Given the description of an element on the screen output the (x, y) to click on. 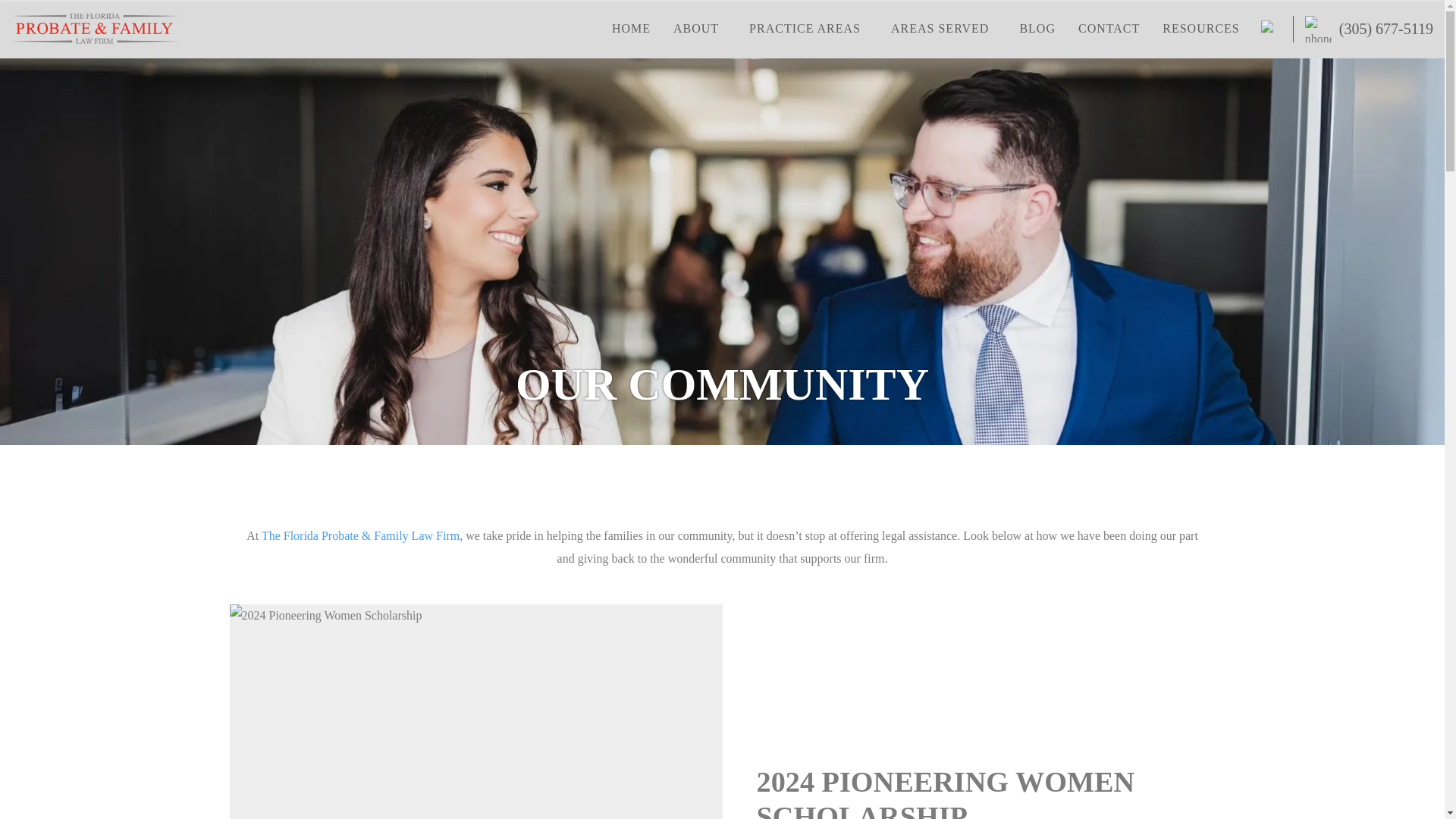
PRACTICE AREAS (804, 28)
AREAS SERVED (939, 28)
